Given the description of an element on the screen output the (x, y) to click on. 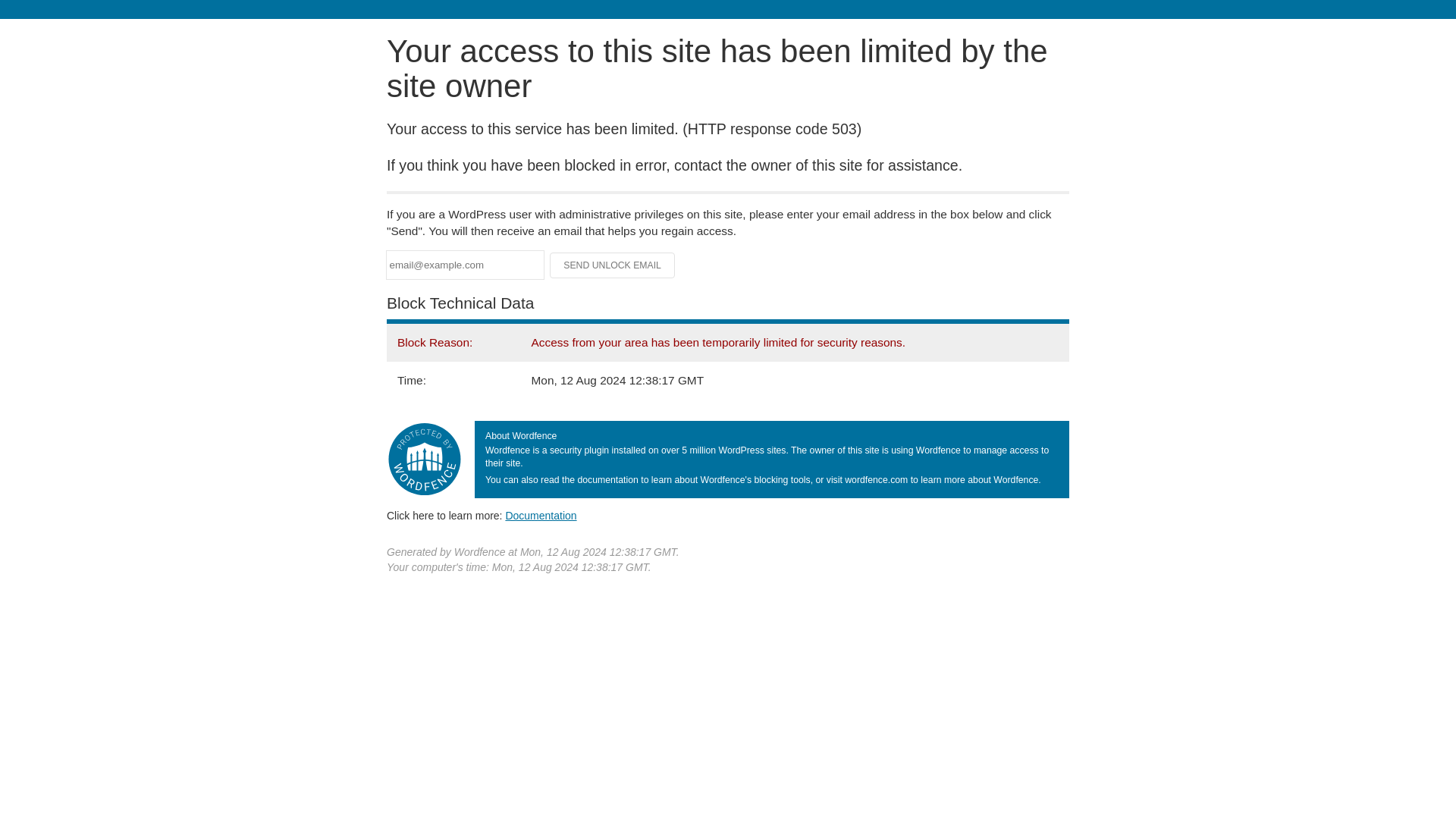
Documentation (540, 515)
Send Unlock Email (612, 265)
Send Unlock Email (612, 265)
